Given the description of an element on the screen output the (x, y) to click on. 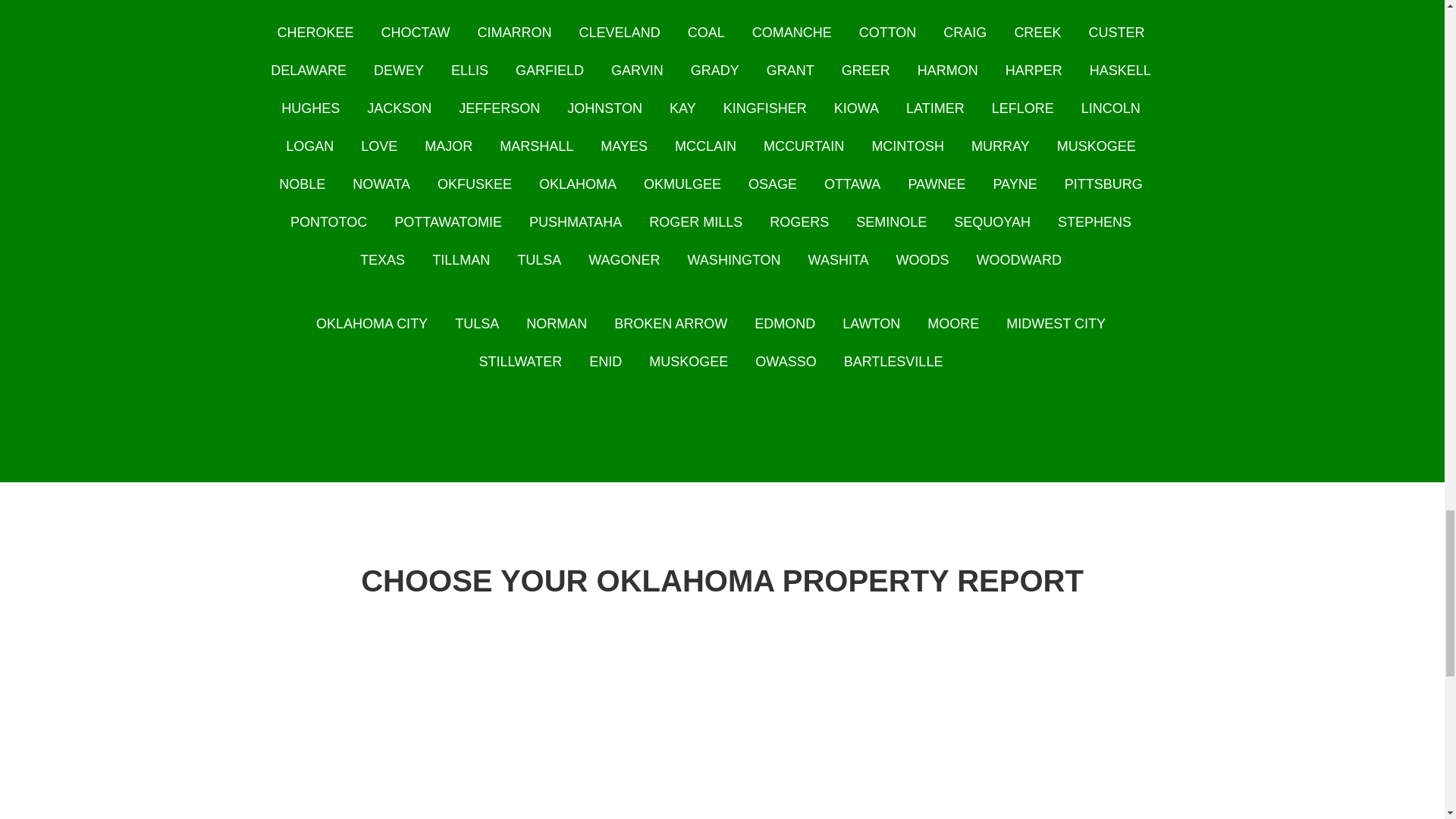
BECKHAM (661, 1)
CARTER (1073, 1)
ATOKA (496, 1)
CHEROKEE (315, 32)
CIMARRON (514, 32)
CLEVELAND (620, 32)
COTTON (888, 32)
ADAIR (340, 1)
ALFALFA (417, 1)
CANADIAN (982, 1)
